Given the description of an element on the screen output the (x, y) to click on. 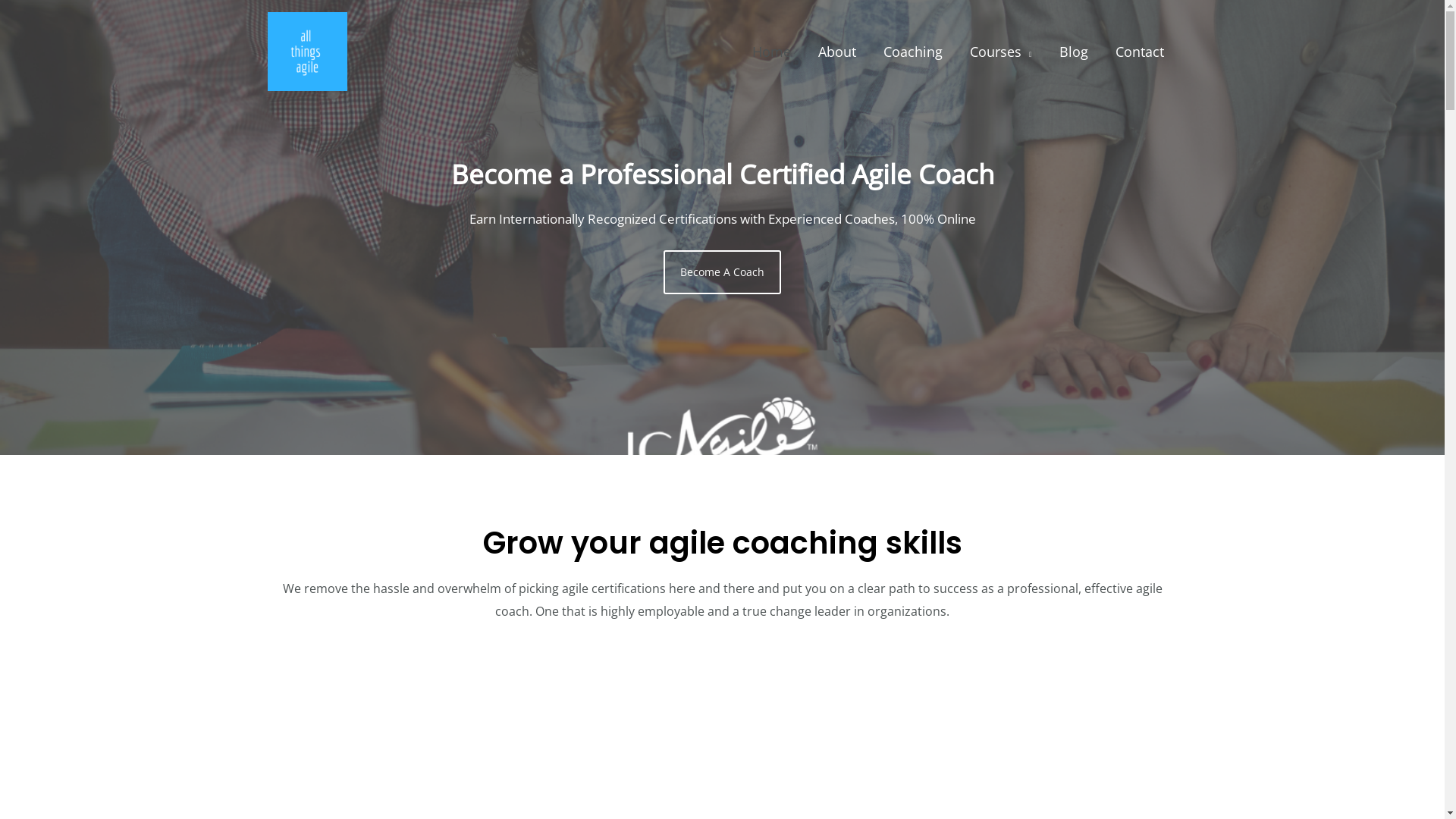
Coaching Element type: text (912, 50)
About Element type: text (836, 50)
Courses Element type: text (1000, 50)
Home Element type: text (771, 50)
Contact Element type: text (1138, 50)
Blog Element type: text (1072, 50)
